Given the description of an element on the screen output the (x, y) to click on. 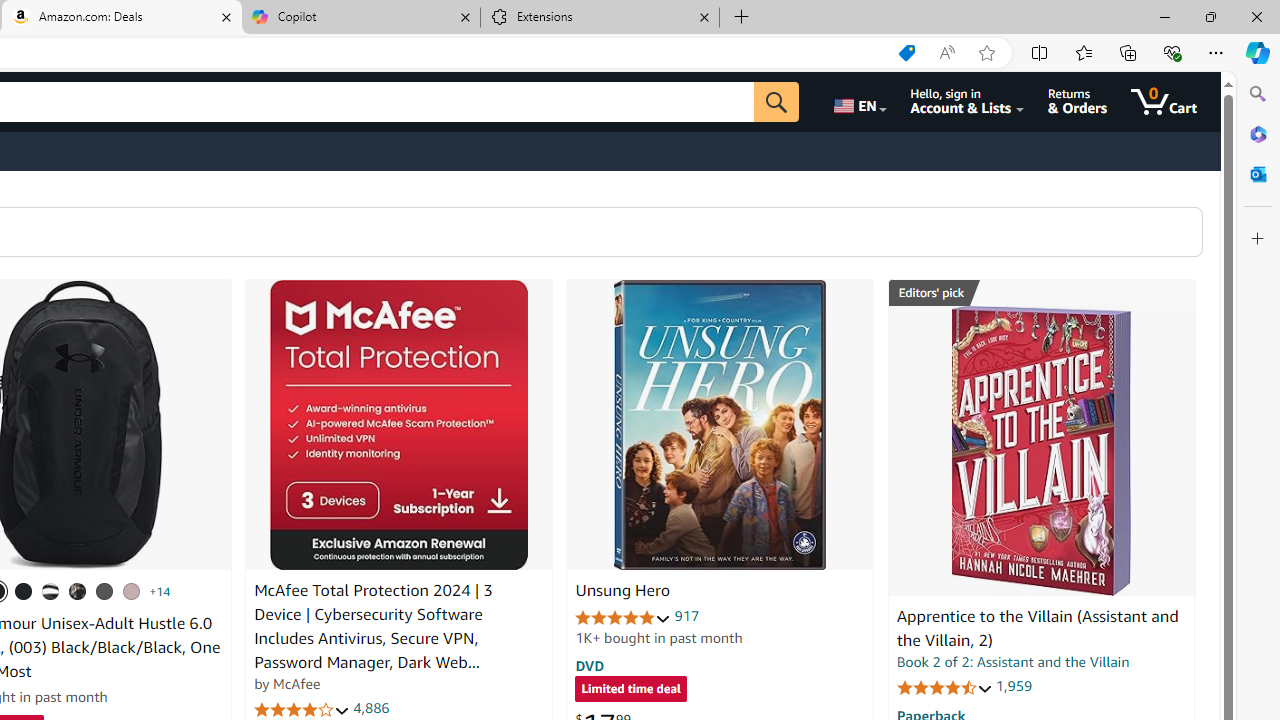
Copilot (360, 17)
Unsung Hero (720, 425)
Book 2 of 2: Assistant and the Villain (1013, 662)
4,886 (371, 708)
DVD (589, 665)
(005) Black Full Heather / Black / Metallic Gold (104, 591)
4.1 out of 5 stars (301, 709)
0 items in cart (1163, 101)
